Given the description of an element on the screen output the (x, y) to click on. 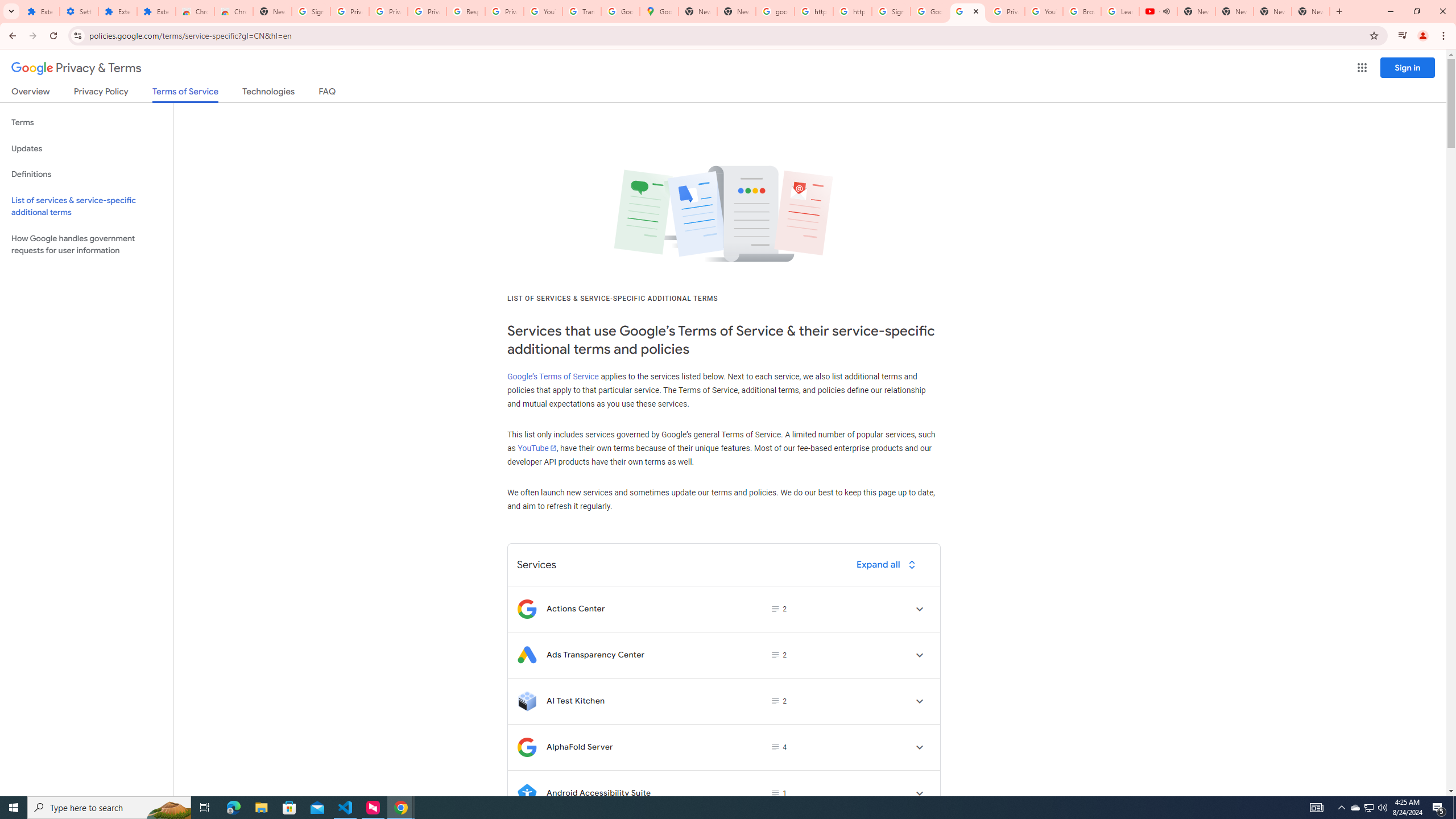
How Google handles government requests for user information (86, 244)
Chrome Web Store (194, 11)
Logo for Ads Transparency Center (526, 654)
Extensions (156, 11)
